Given the description of an element on the screen output the (x, y) to click on. 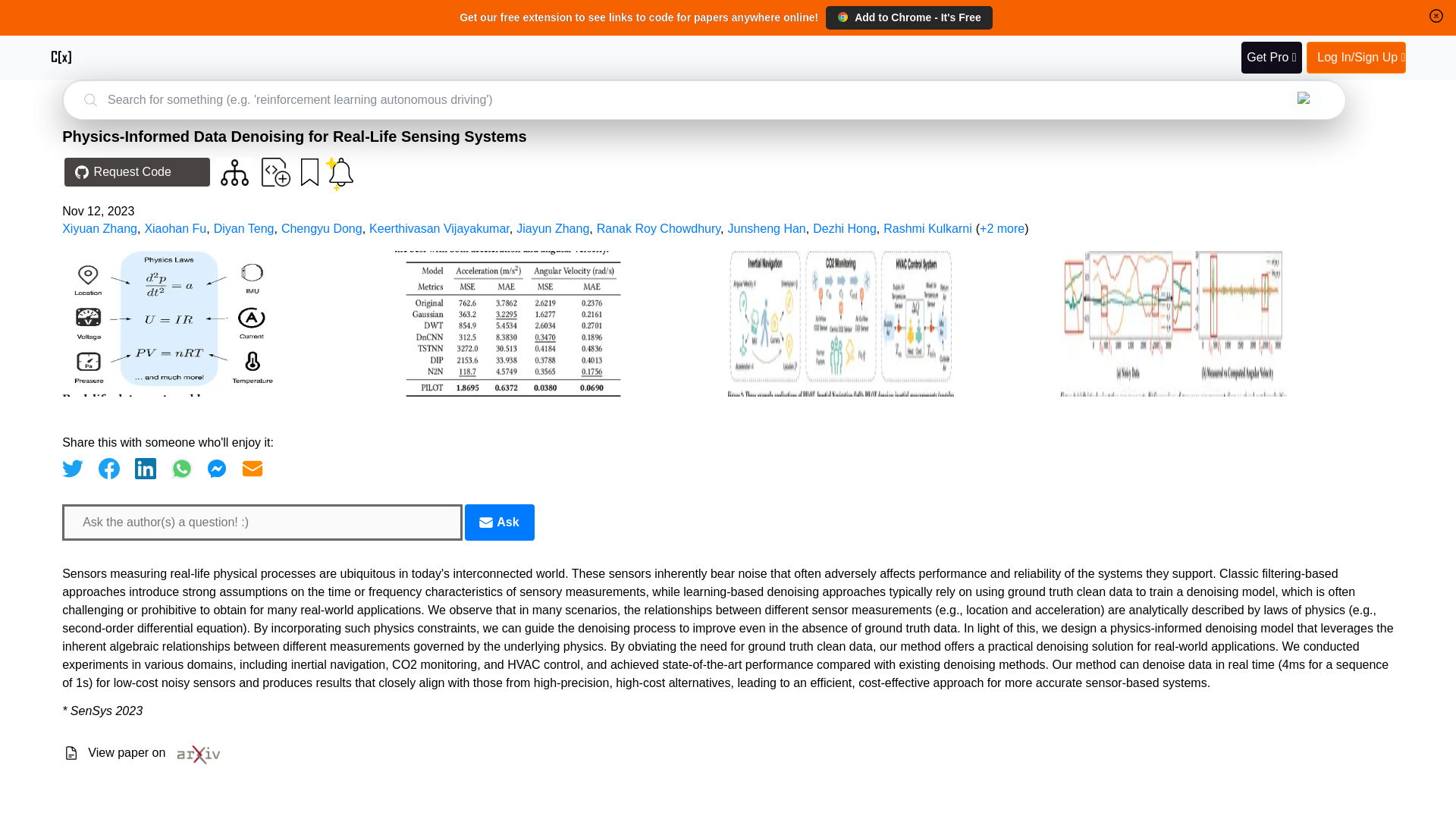
Request Code (136, 172)
Xiaohan Fu (175, 228)
Email Icon Ask (499, 522)
Share via Email (252, 468)
Request Code (132, 173)
Chengyu Dong (321, 228)
Keerthivasan Vijayakumar (439, 228)
View code for similar papers (234, 171)
Ask any Qs from the author (499, 522)
Junsheng Han (767, 228)
Ranak Roy Chowdhury (658, 228)
Contribute your code for this paper to the community (275, 172)
Jiayun Zhang (552, 228)
Diyan Teng (244, 228)
Add to Chrome - It's Free (908, 17)
